Given the description of an element on the screen output the (x, y) to click on. 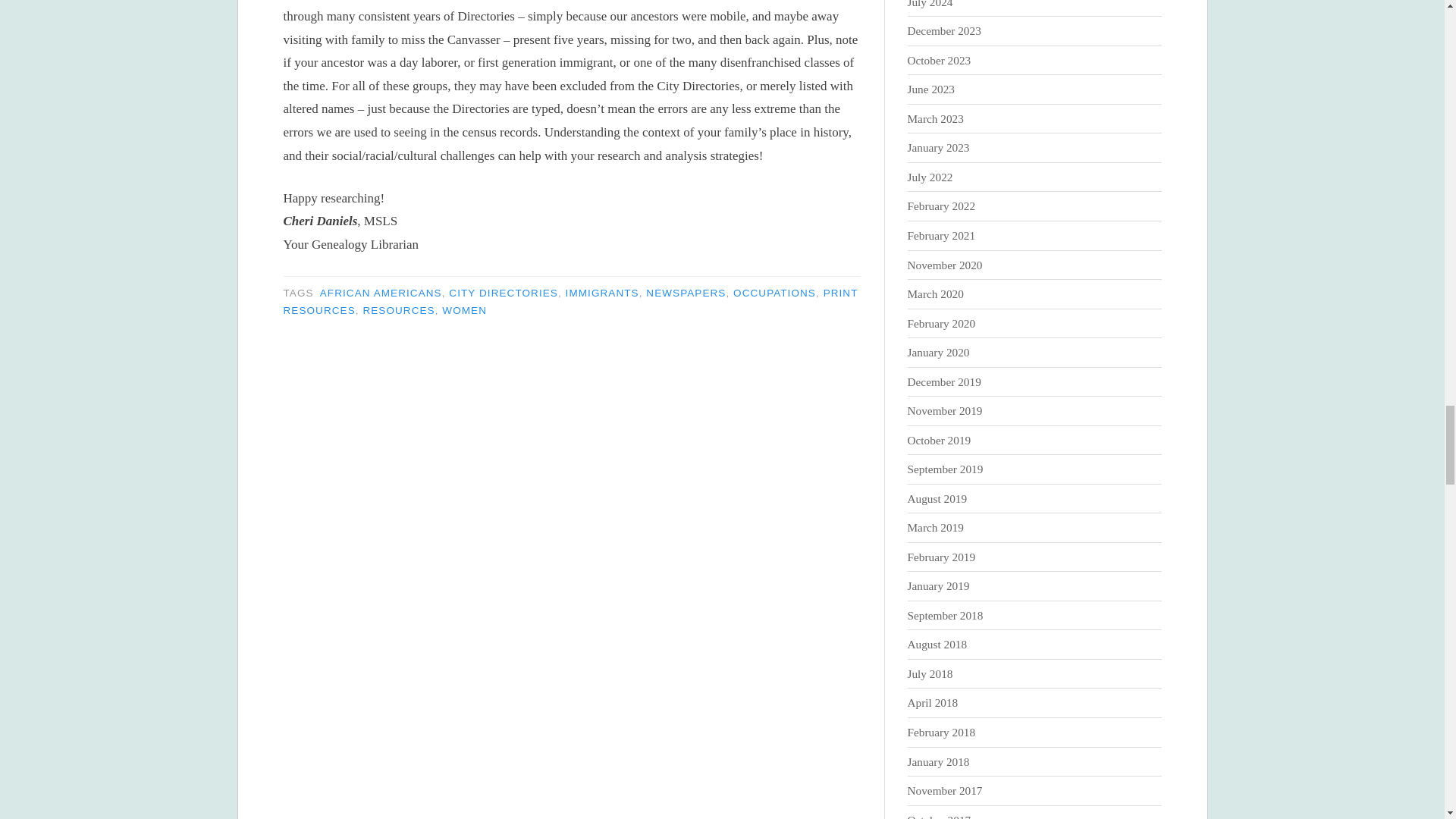
PRINT RESOURCES (571, 301)
WOMEN (464, 310)
AFRICAN AMERICANS (381, 292)
OCCUPATIONS (774, 292)
RESOURCES (397, 310)
NEWSPAPERS (685, 292)
CITY DIRECTORIES (502, 292)
IMMIGRANTS (602, 292)
